Given the description of an element on the screen output the (x, y) to click on. 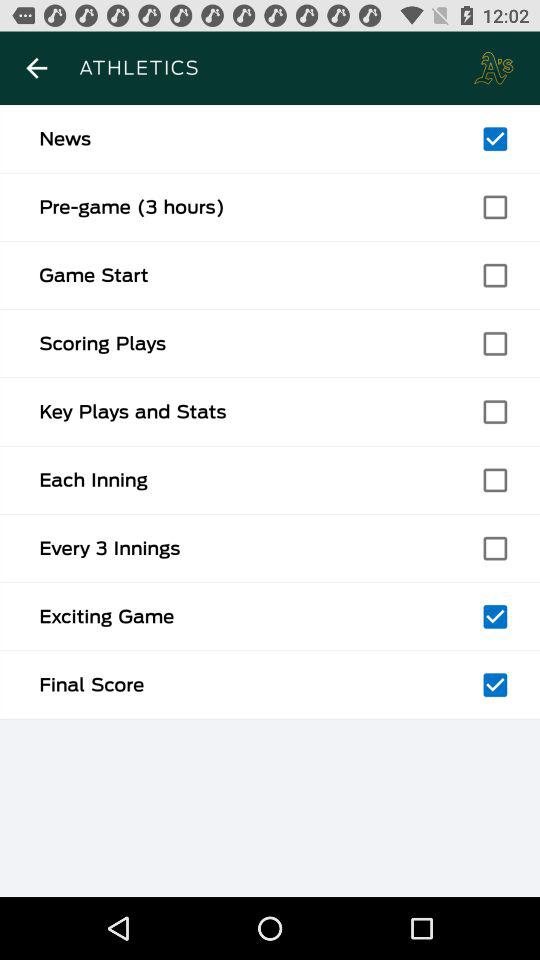
news check box (495, 139)
